Given the description of an element on the screen output the (x, y) to click on. 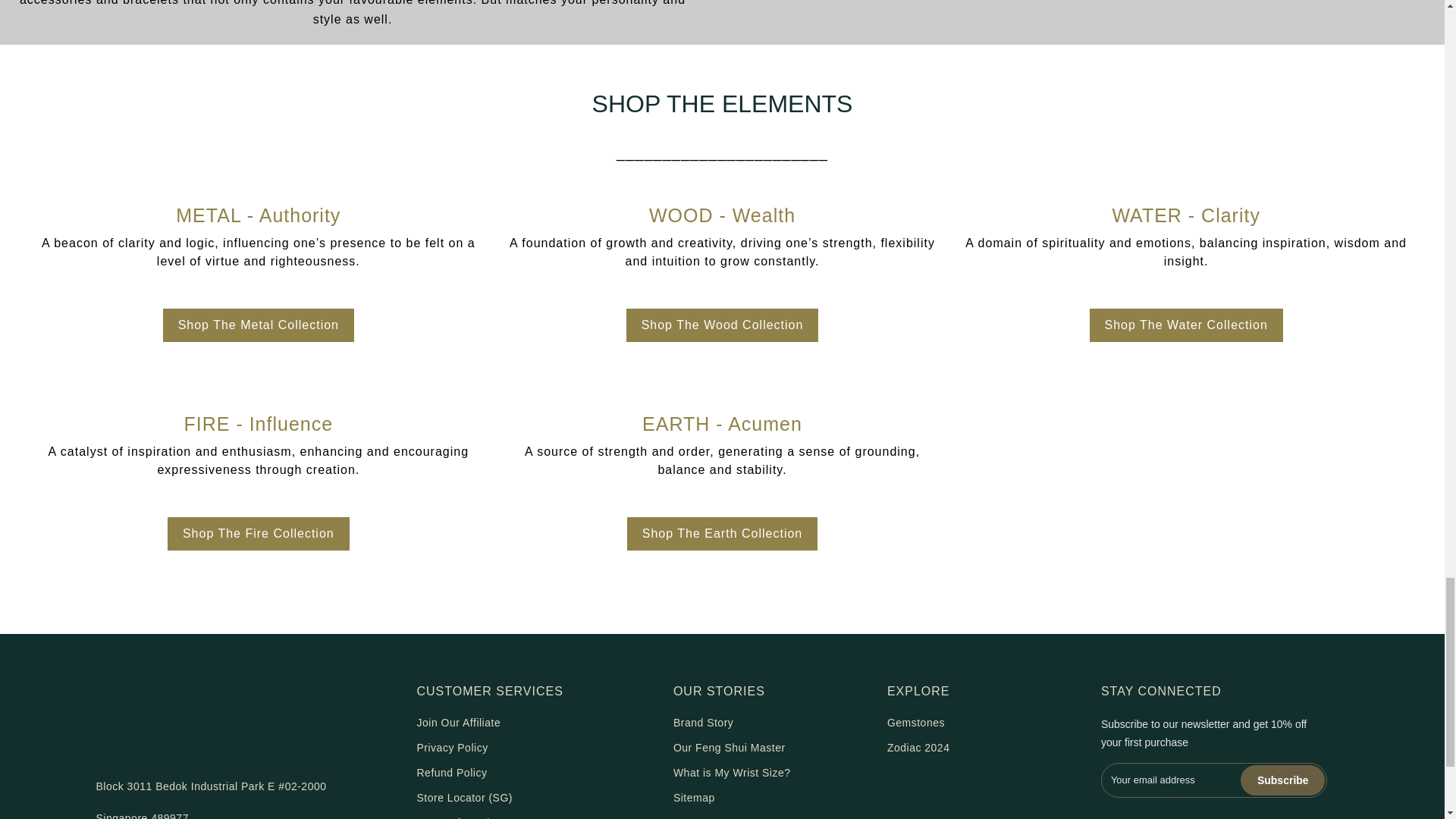
Subscribe (1282, 779)
Join Our Affiliate (458, 722)
Our Feng Shui Master (729, 747)
Gemstones (915, 722)
Brand Story (702, 722)
Refund Policy (451, 772)
Sitemap (693, 797)
Shop The Water Collection (1185, 325)
Shop The Fire Collection (258, 533)
Shop The Metal Collection (258, 325)
Terms of Service (459, 817)
Shop The Wood Collection (722, 325)
Zodiac 2024 (918, 747)
Shop The Earth Collection (721, 533)
What is My Wrist Size? (731, 772)
